Given the description of an element on the screen output the (x, y) to click on. 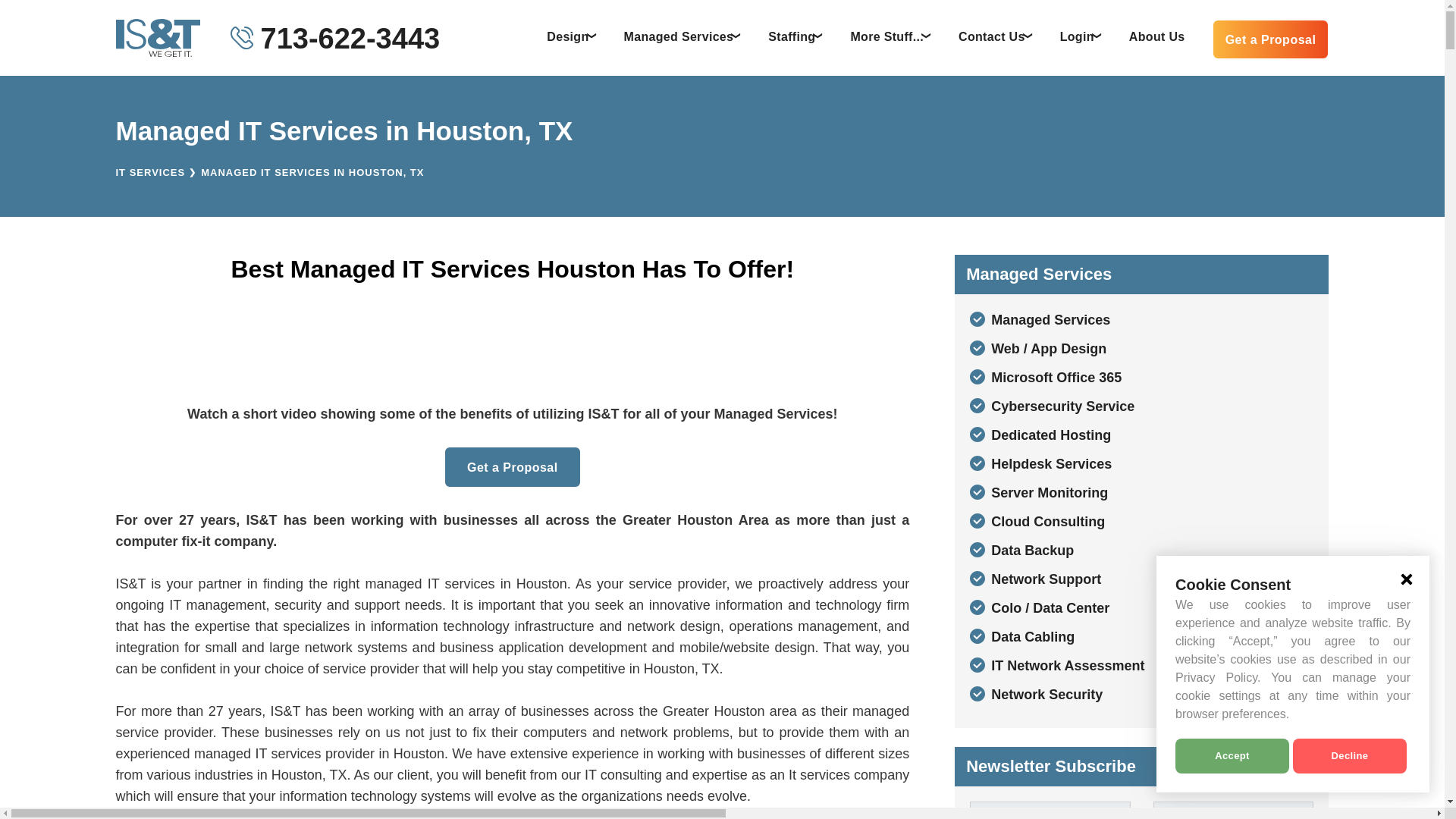
Toggle navigation (1096, 35)
Toggle navigation (818, 35)
Toggle navigation (736, 35)
Toggle navigation (592, 35)
Managed Services (684, 36)
Design (573, 36)
Toggle navigation (1027, 35)
Get a Proposal (1270, 39)
Toggle navigation (926, 35)
Staffing (797, 36)
713-622-3443 (350, 38)
